Given the description of an element on the screen output the (x, y) to click on. 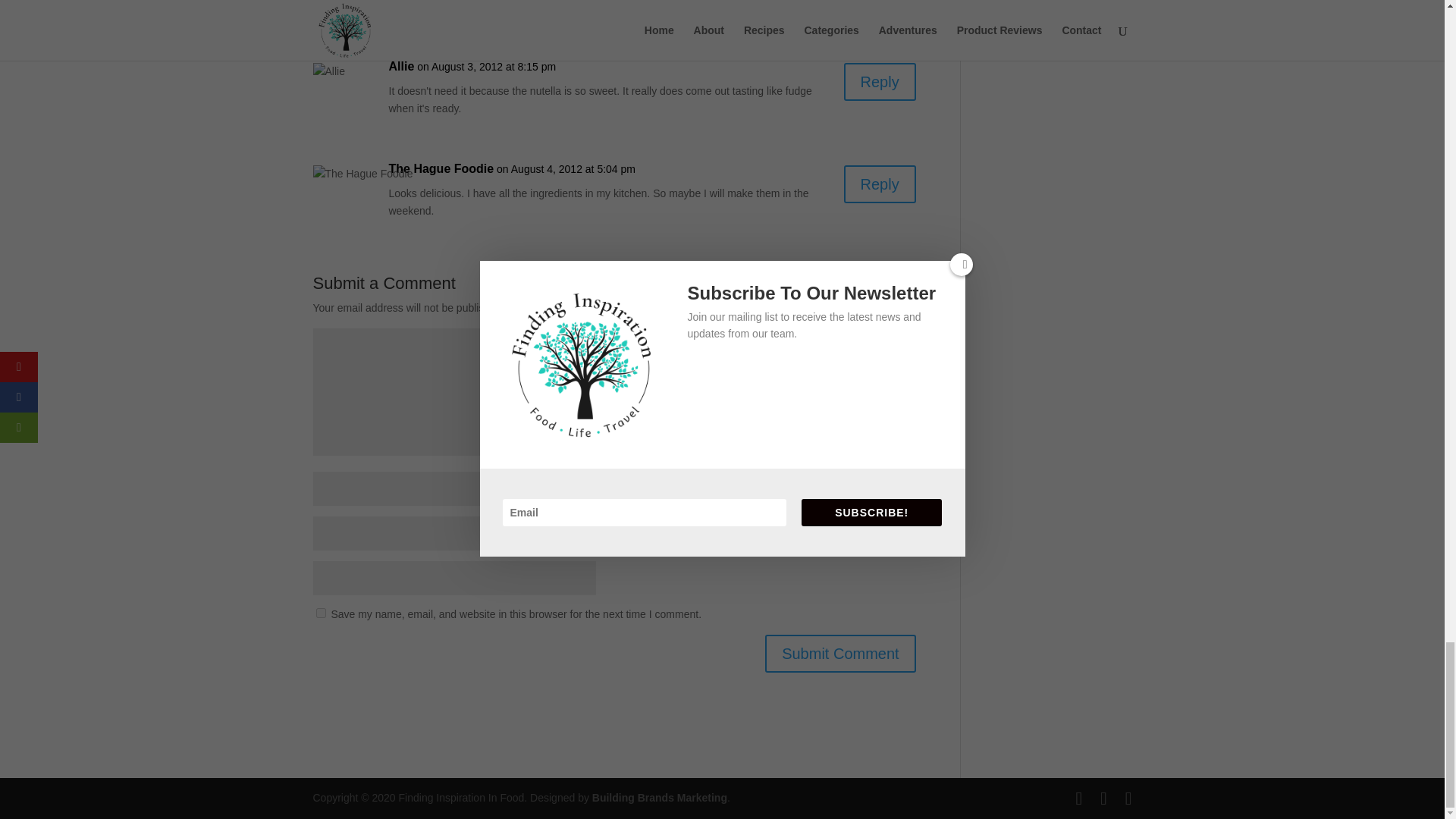
Allie (400, 66)
Reply (879, 184)
yes (319, 613)
Reply (879, 81)
Submit Comment (840, 653)
Submit Comment (840, 653)
The Hague Foodie (440, 168)
